Given the description of an element on the screen output the (x, y) to click on. 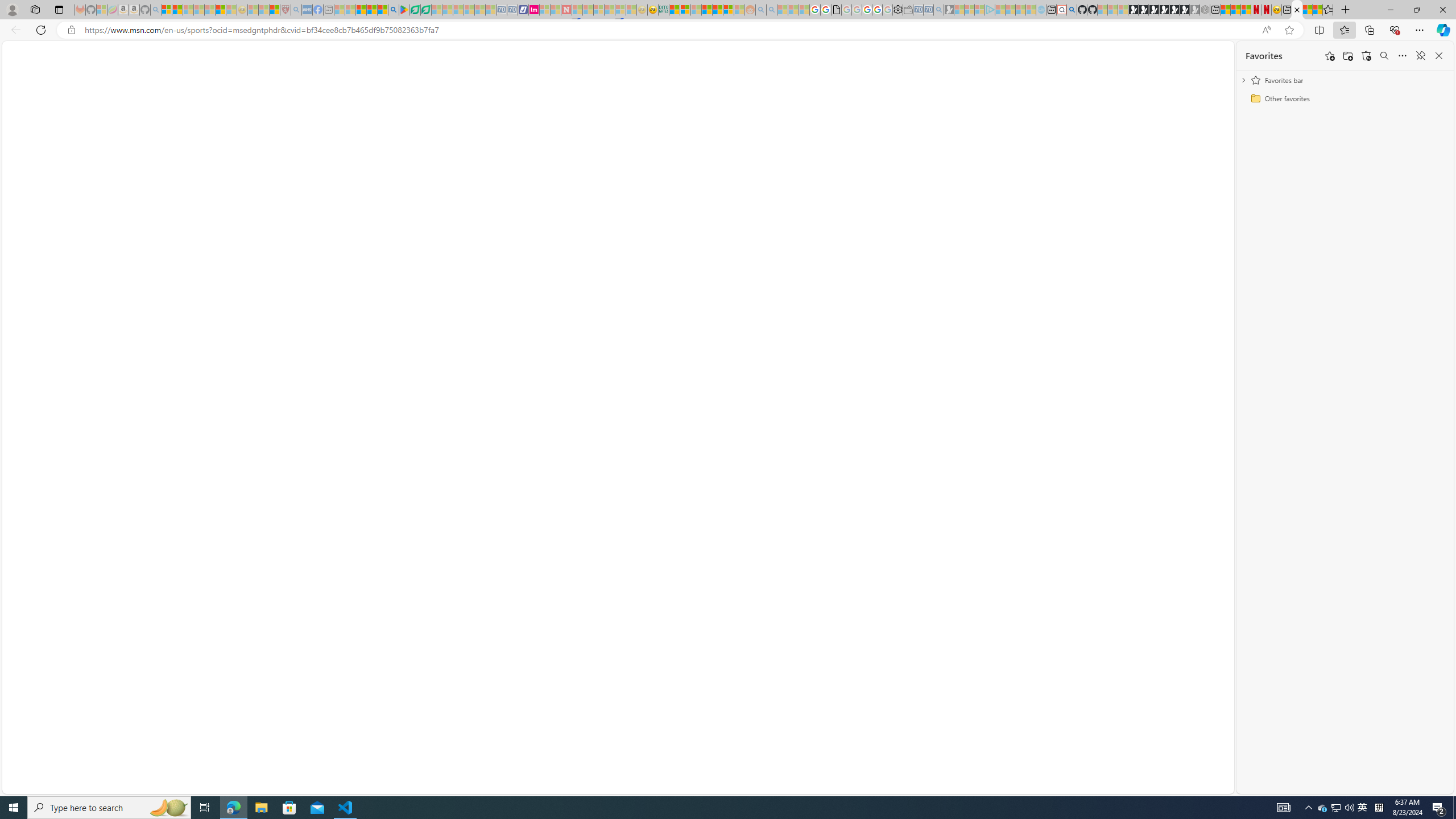
github - Search (1071, 9)
Jobs - lastminute.com Investor Portal (534, 9)
